Given the description of an element on the screen output the (x, y) to click on. 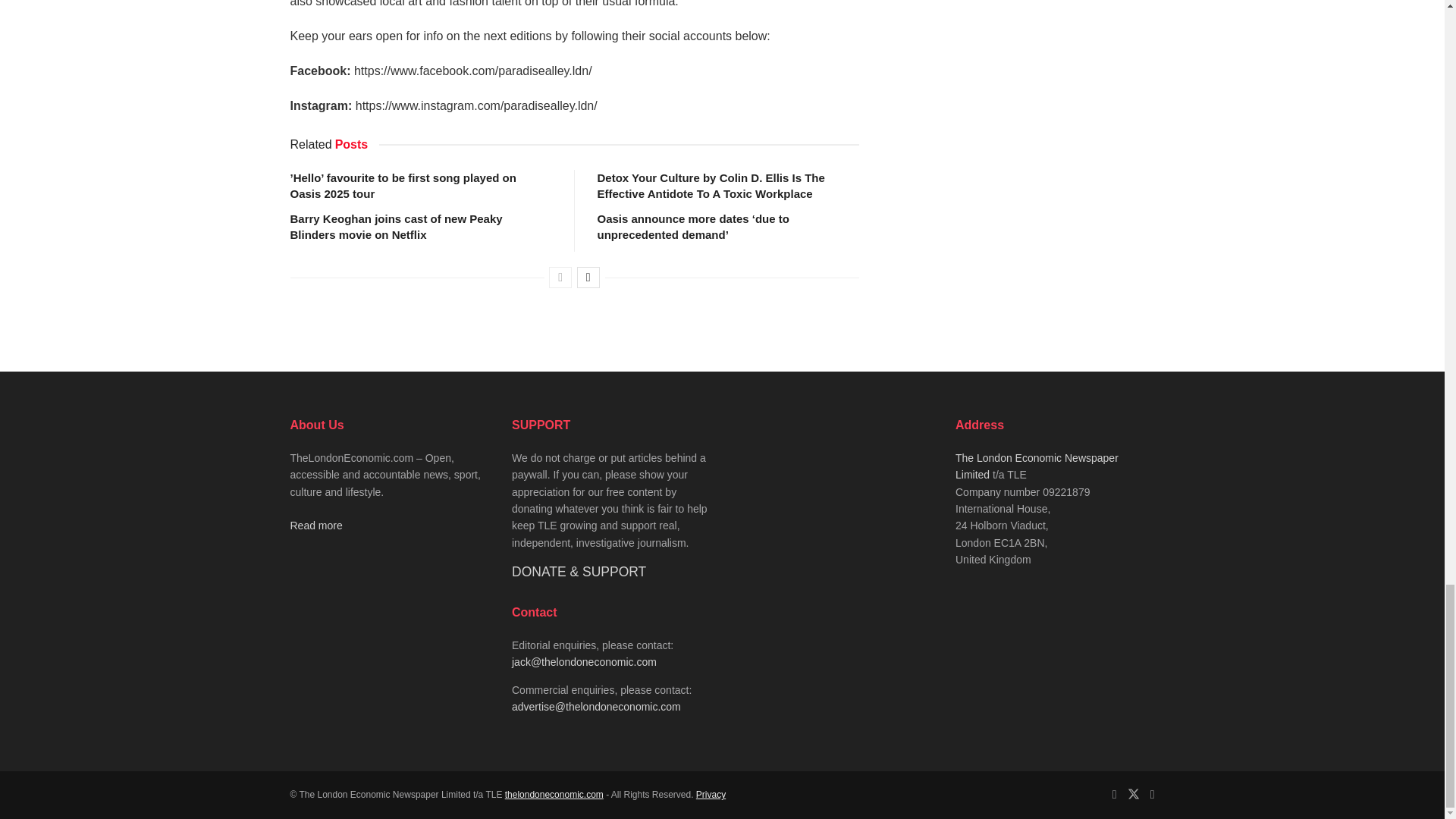
Next (587, 277)
The London Economic (554, 794)
Previous (560, 277)
Privacy (710, 794)
